Given the description of an element on the screen output the (x, y) to click on. 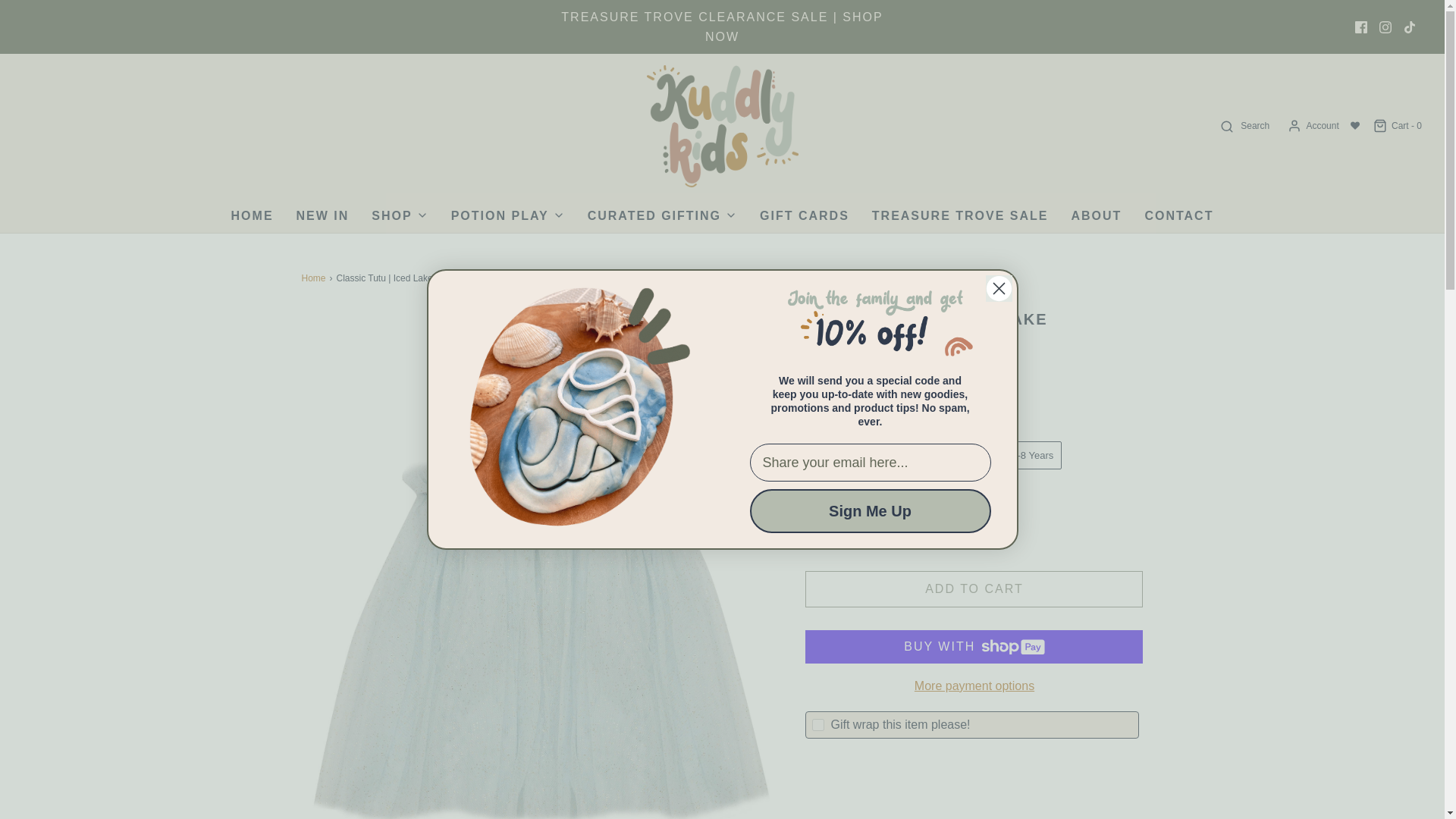
TIKTOK ICON (1409, 27)
FACEBOOK ICON (1361, 27)
Cart (1396, 125)
Search (1243, 125)
Back to the frontpage (315, 278)
yes (818, 725)
FACEBOOK ICON (1361, 27)
TIKTOK ICON (1409, 27)
INSTAGRAM ICON (1385, 27)
1 (881, 527)
Log in (1312, 125)
INSTAGRAM ICON (1384, 27)
